Given the description of an element on the screen output the (x, y) to click on. 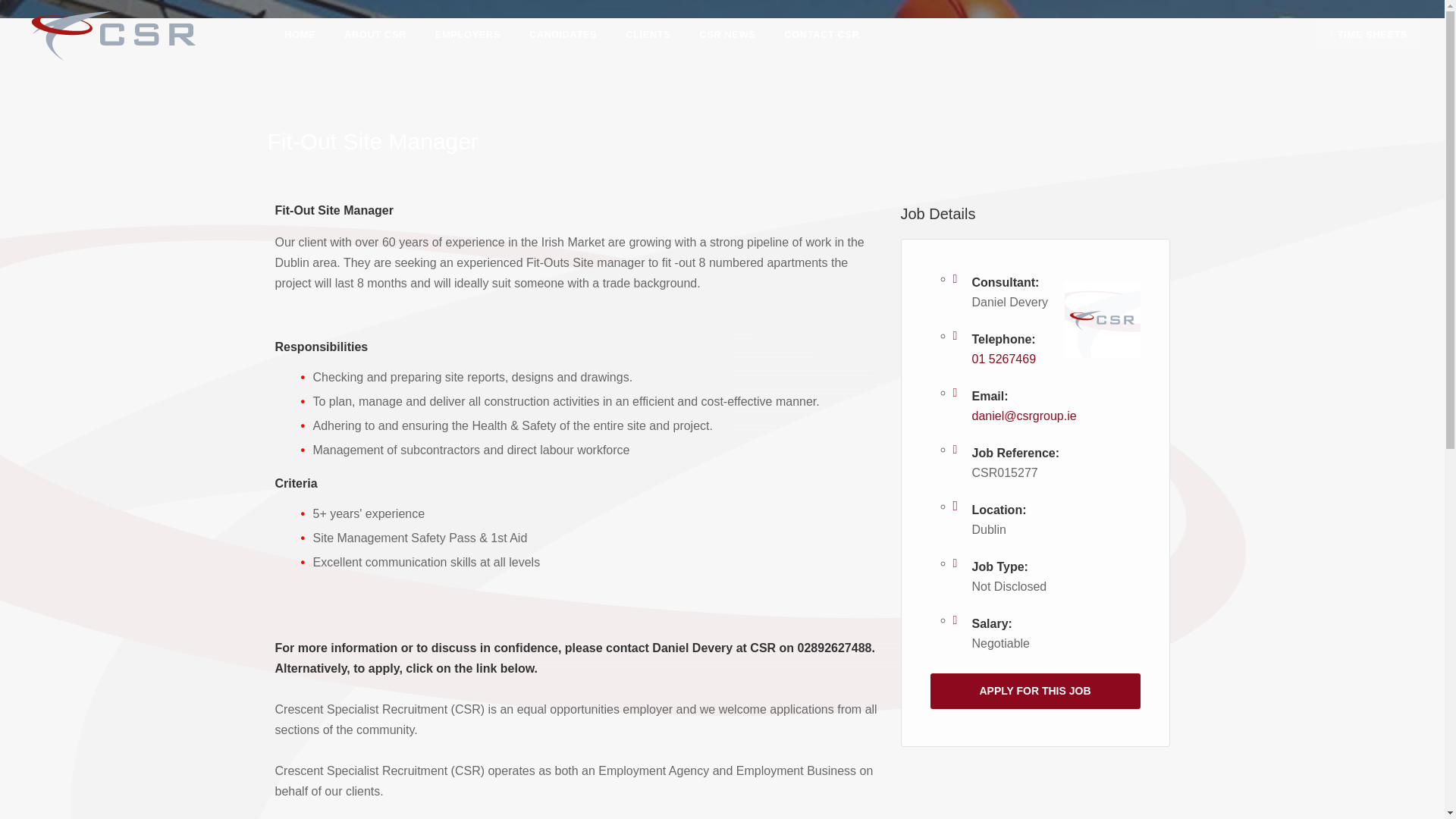
CLIENTS (647, 34)
ABOUT CSR (374, 34)
CSR NEWS (726, 34)
TIME SHEETS (1367, 34)
01 5267469 (1004, 358)
EMPLOYERS (468, 34)
CONTACT CSR (821, 34)
HOME (299, 34)
APPLY FOR THIS JOB (1035, 691)
CANDIDATES (562, 34)
